Given the description of an element on the screen output the (x, y) to click on. 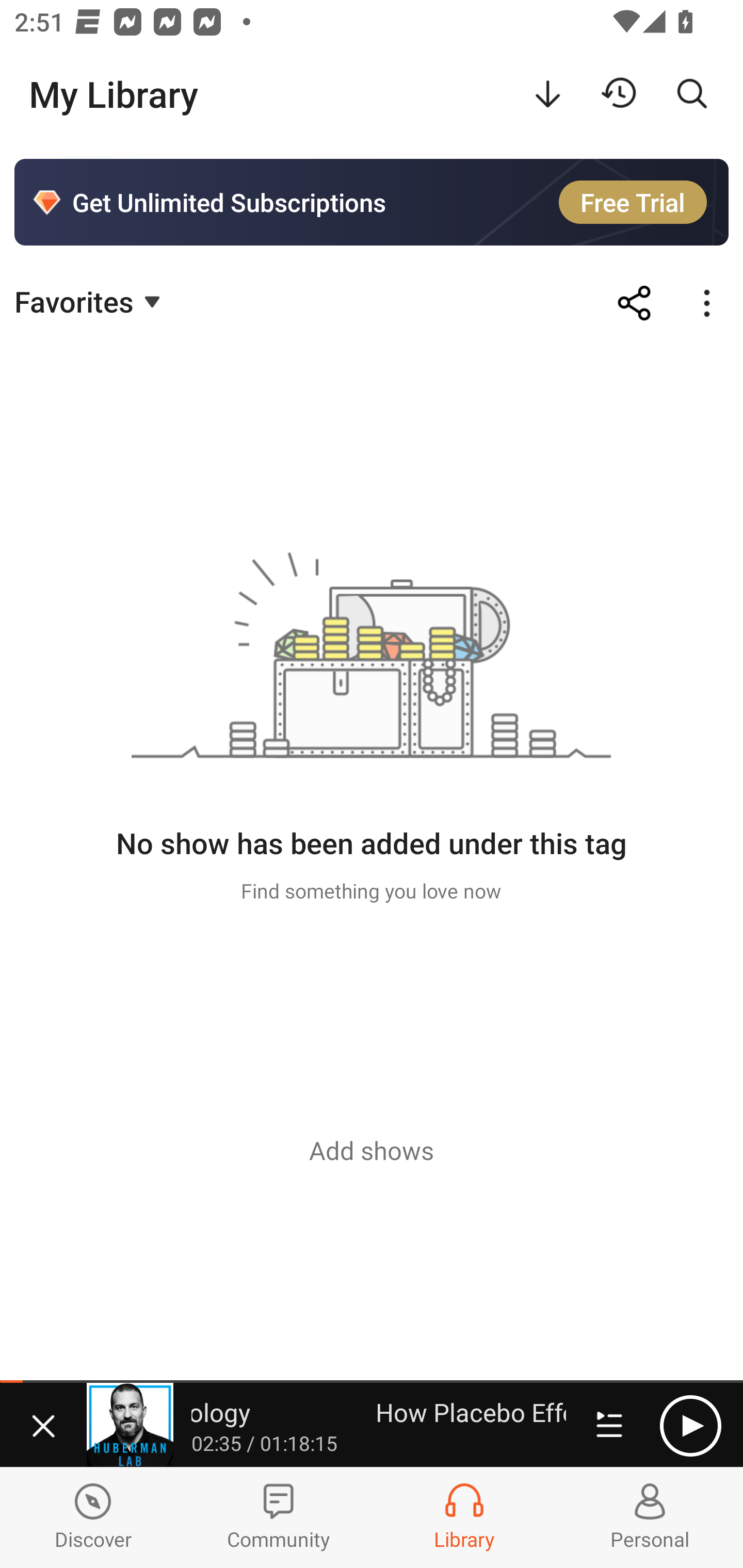
Get Unlimited Subscriptions Free Trial (371, 202)
Free Trial (632, 202)
Favorites (90, 300)
Add shows (371, 1150)
Play (690, 1425)
Discover (92, 1517)
Community (278, 1517)
Library (464, 1517)
Profiles and Settings Personal (650, 1517)
